Given the description of an element on the screen output the (x, y) to click on. 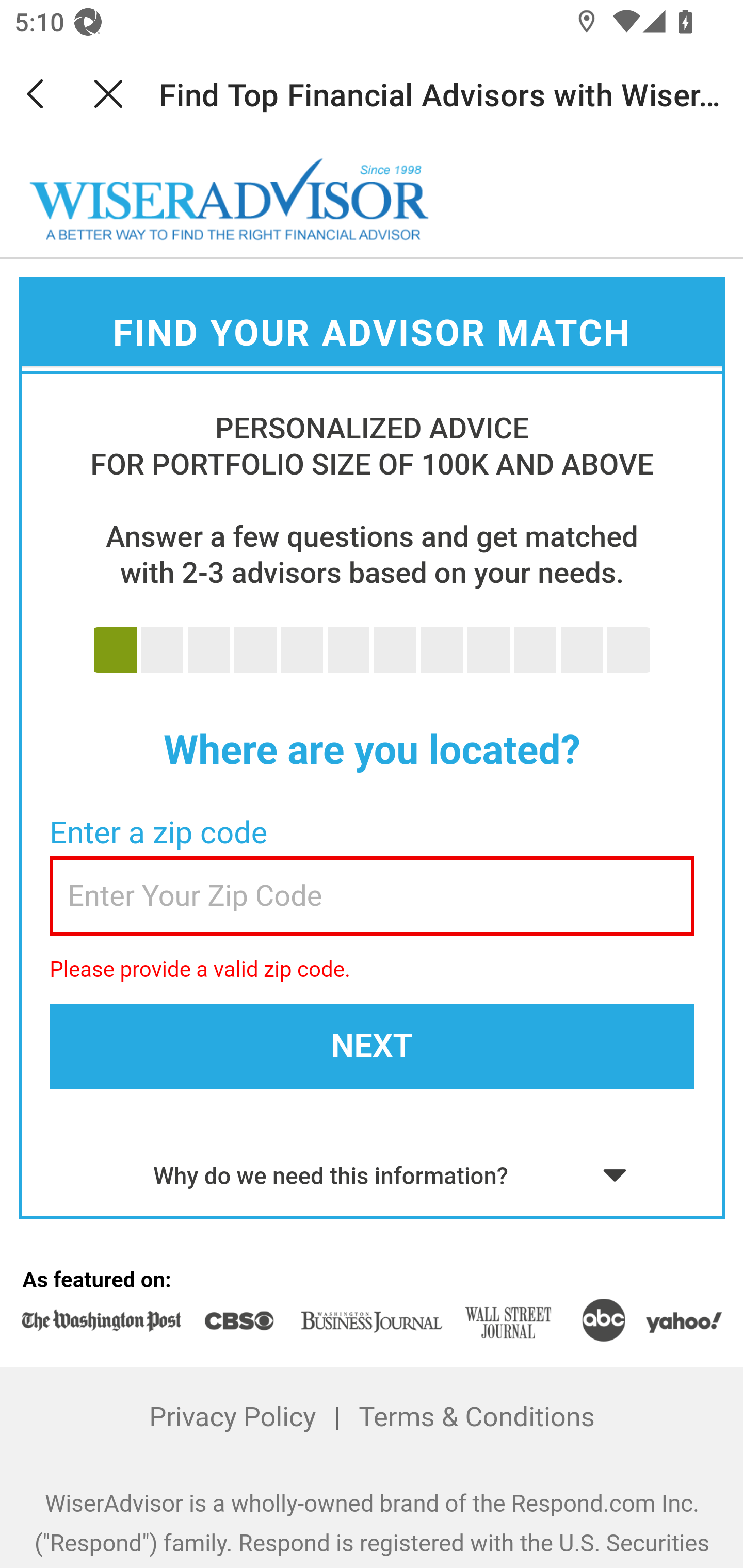
WiserAdvisor (229, 200)
NEXT (371, 1046)
Privacy Policy (232, 1417)
Terms & Conditions (476, 1417)
